Given the description of an element on the screen output the (x, y) to click on. 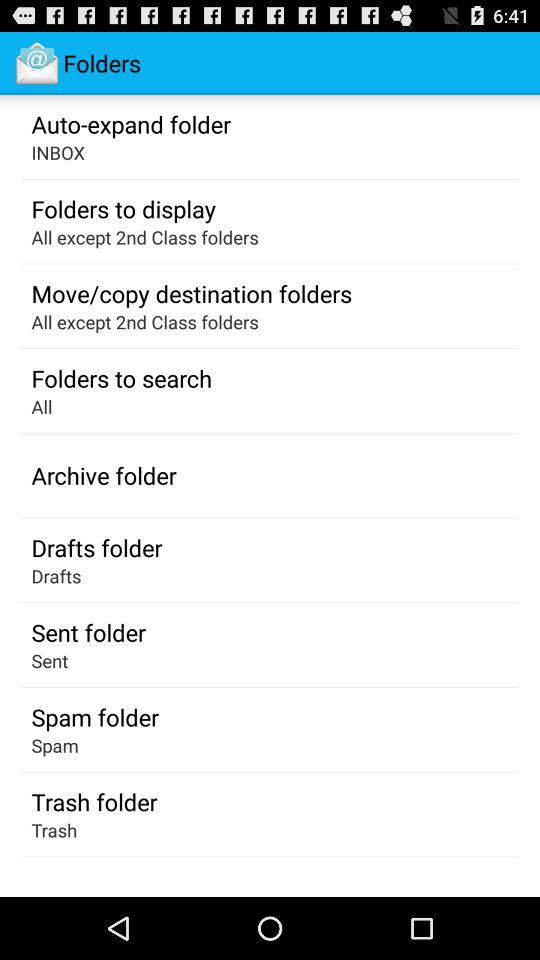
open app above sent app (88, 632)
